Given the description of an element on the screen output the (x, y) to click on. 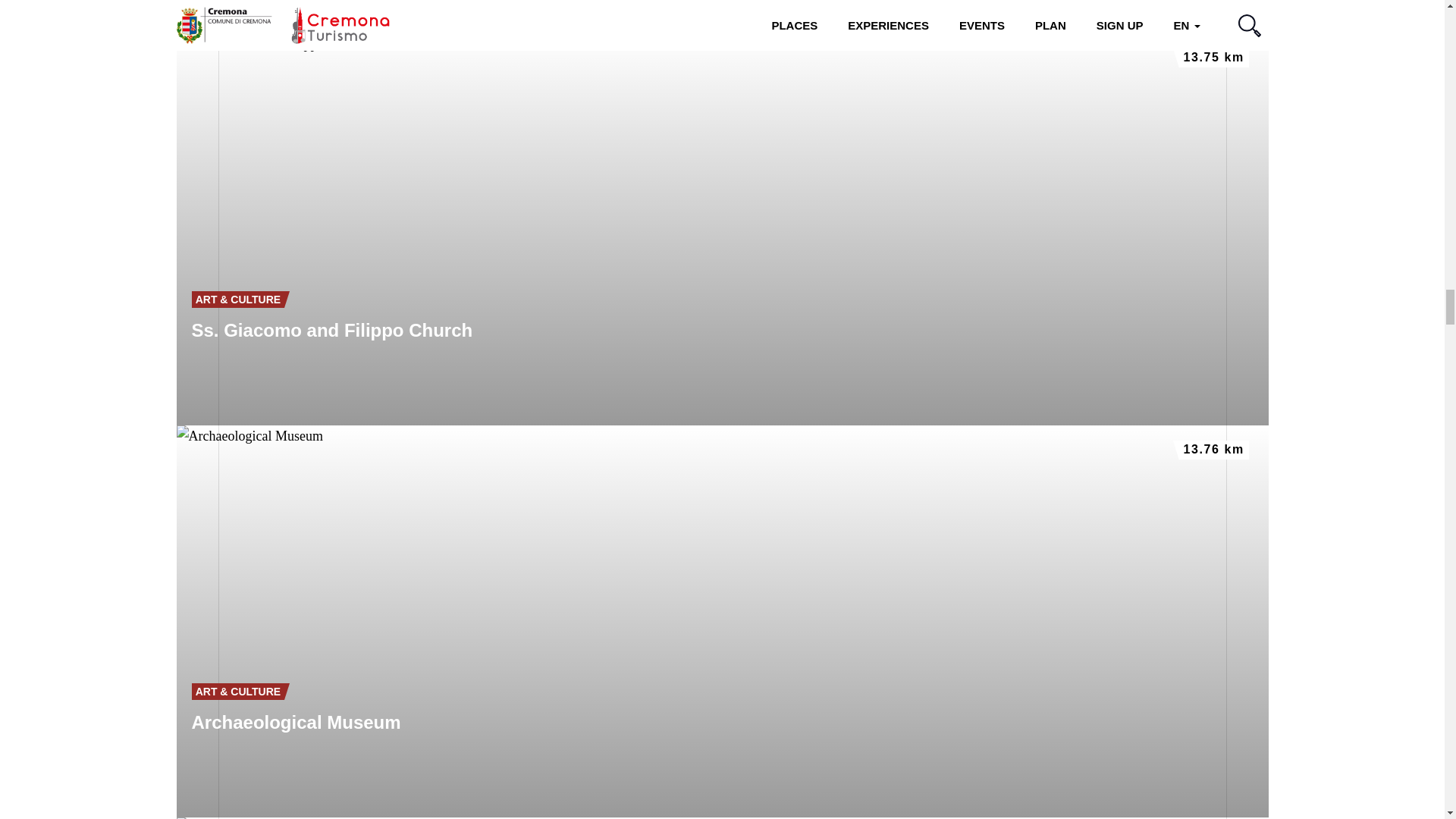
Trinity Church (722, 16)
